Given the description of an element on the screen output the (x, y) to click on. 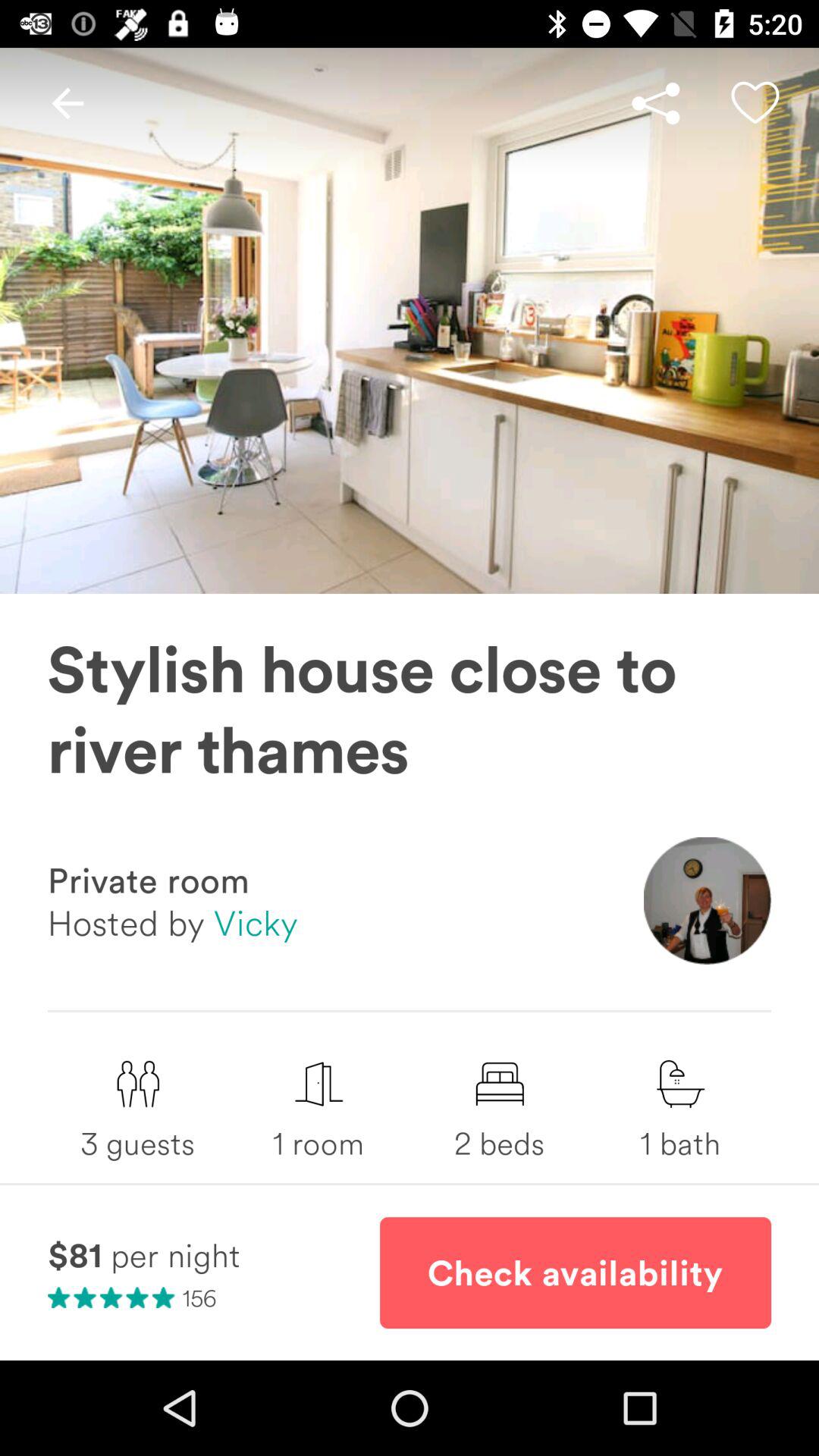
click icon above the stylish house close icon (67, 103)
